Given the description of an element on the screen output the (x, y) to click on. 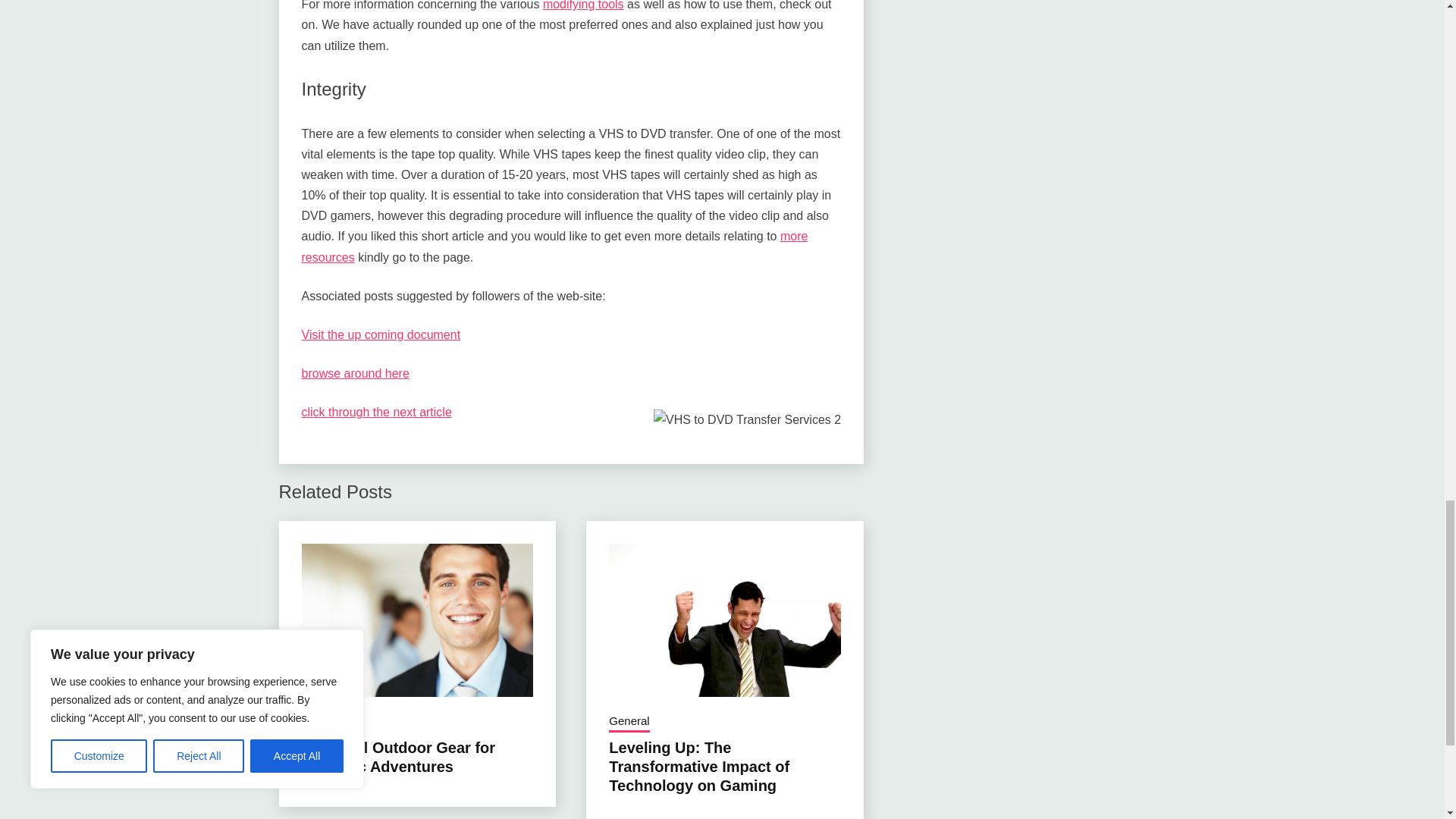
browse around here (355, 373)
click through the next article (376, 411)
more resources (554, 246)
modifying tools (583, 5)
Visit the up coming document (381, 334)
